Given the description of an element on the screen output the (x, y) to click on. 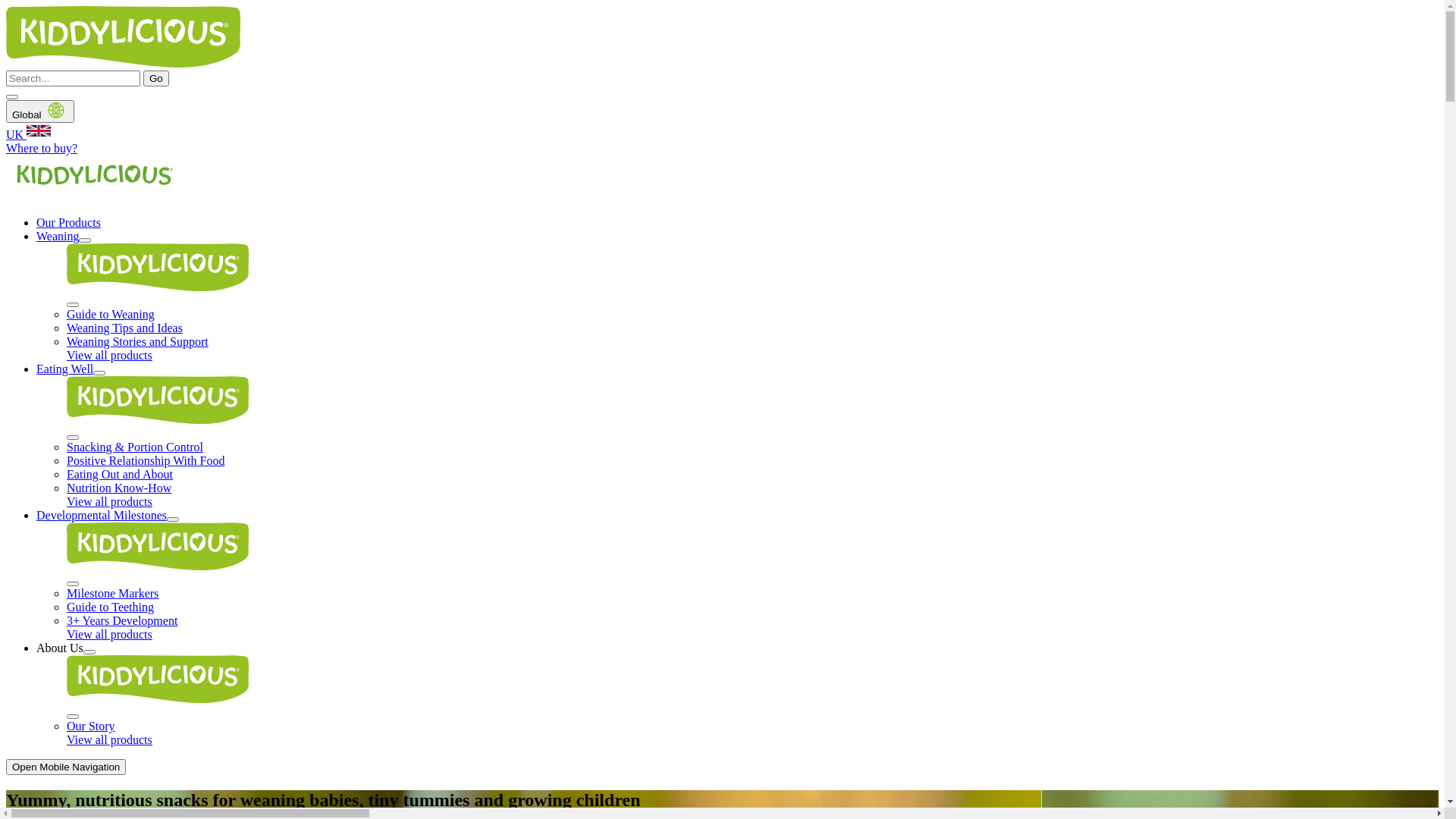
View all products Element type: text (109, 739)
Go Element type: text (156, 78)
Eating Well Element type: text (64, 368)
Enter your search term Element type: hover (73, 78)
View all products Element type: text (109, 633)
Weaning Element type: text (57, 235)
Milestone Markers Element type: text (112, 592)
3+ Years Development Element type: text (121, 620)
UK Element type: text (722, 131)
Our Products Element type: text (68, 222)
View all products Element type: text (109, 501)
Weaning Tips and Ideas Element type: text (124, 327)
Eating Out and About Element type: text (119, 473)
Snacking & Portion Control Element type: text (134, 446)
Guide to Weaning Element type: text (110, 313)
Nutrition Know-How Element type: text (118, 487)
Guide to Teething Element type: text (109, 606)
Developmental Milestones Element type: text (101, 514)
Positive Relationship With Food Element type: text (145, 460)
Our Story Element type: text (90, 725)
View all products Element type: text (109, 354)
Open Mobile Navigation Element type: text (65, 767)
Global Element type: text (40, 111)
Where to buy? Element type: text (41, 147)
Weaning Stories and Support Element type: text (137, 341)
